Given the description of an element on the screen output the (x, y) to click on. 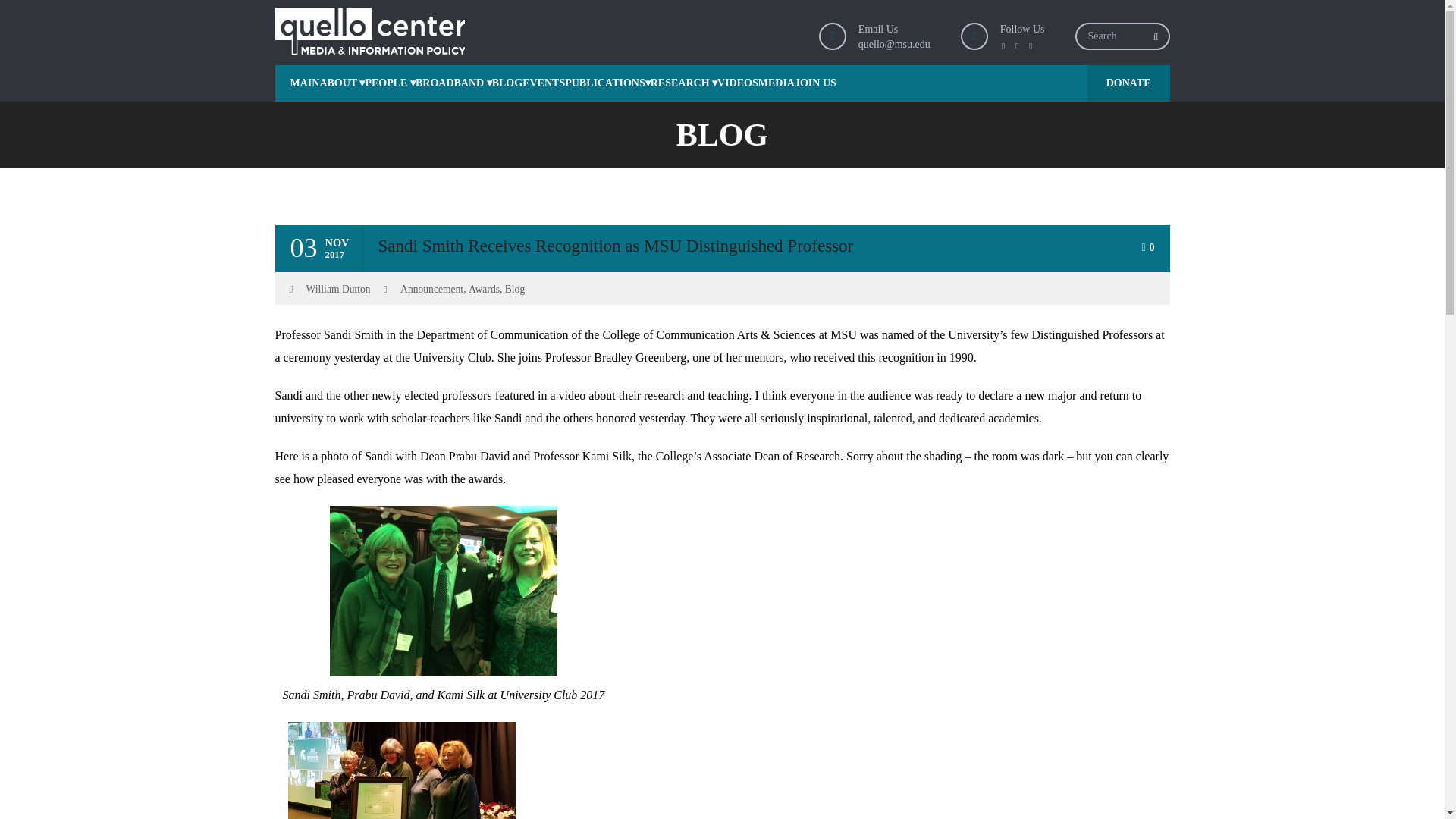
JOIN US (814, 83)
MAIN (296, 83)
William Dutton (338, 289)
0 (1147, 247)
Announcement (431, 289)
MEDIA (776, 83)
EVENTS (543, 83)
View all posts in Awards (483, 289)
View all posts in Blog (514, 289)
VIDEOS (737, 83)
